Given the description of an element on the screen output the (x, y) to click on. 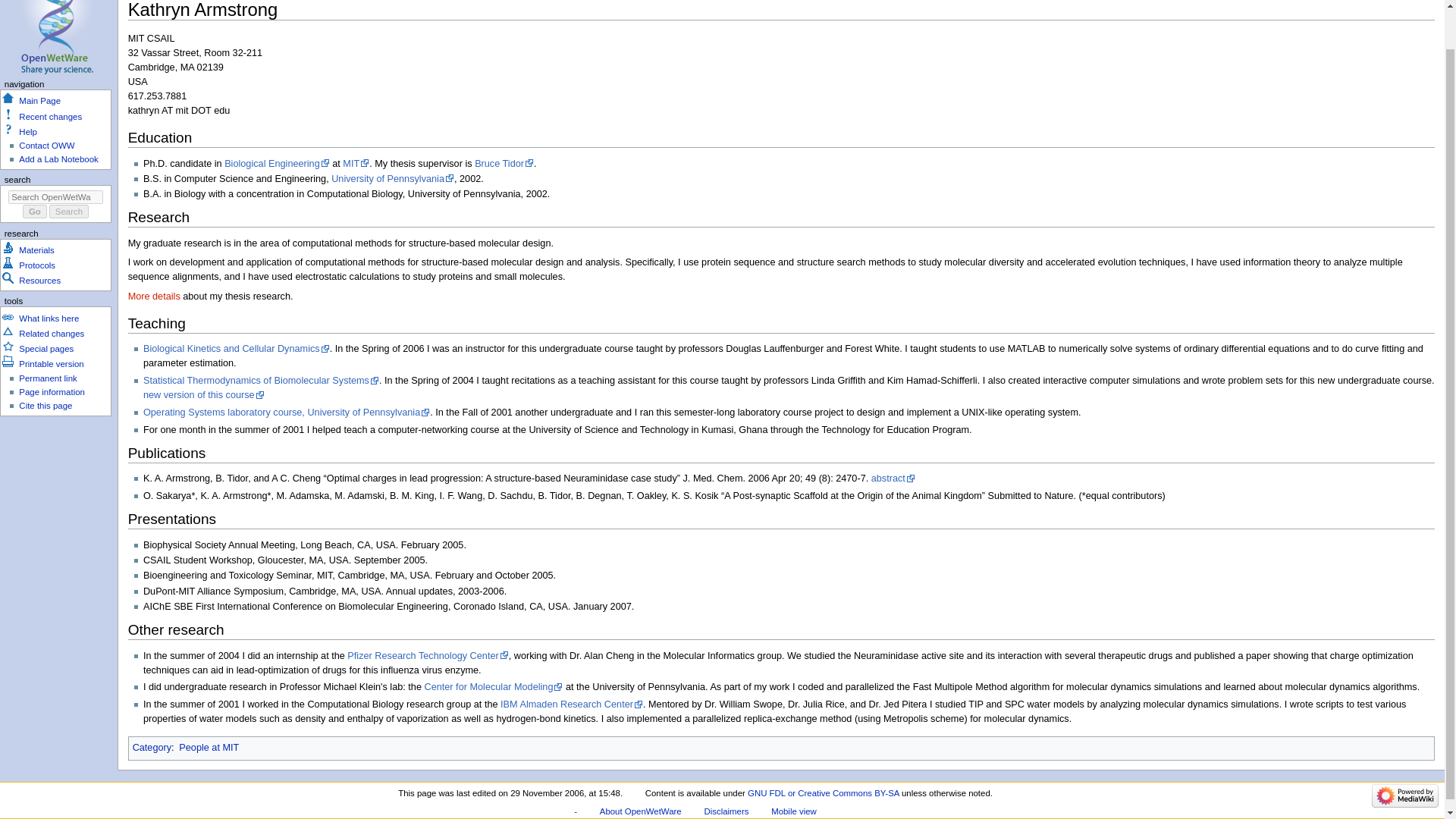
Category (151, 747)
Bruce Tidor (504, 163)
Search (68, 211)
Recent changes (49, 116)
Search (68, 211)
new version of this course (203, 394)
Category:People at MIT (208, 747)
The place to find out (27, 131)
University of Pennsylvania (392, 178)
Center for Molecular Modeling (494, 686)
People at MIT (208, 747)
abstract (892, 478)
MIT (355, 163)
Statistical Thermodynamics of Biomolecular Systems (260, 380)
